Given the description of an element on the screen output the (x, y) to click on. 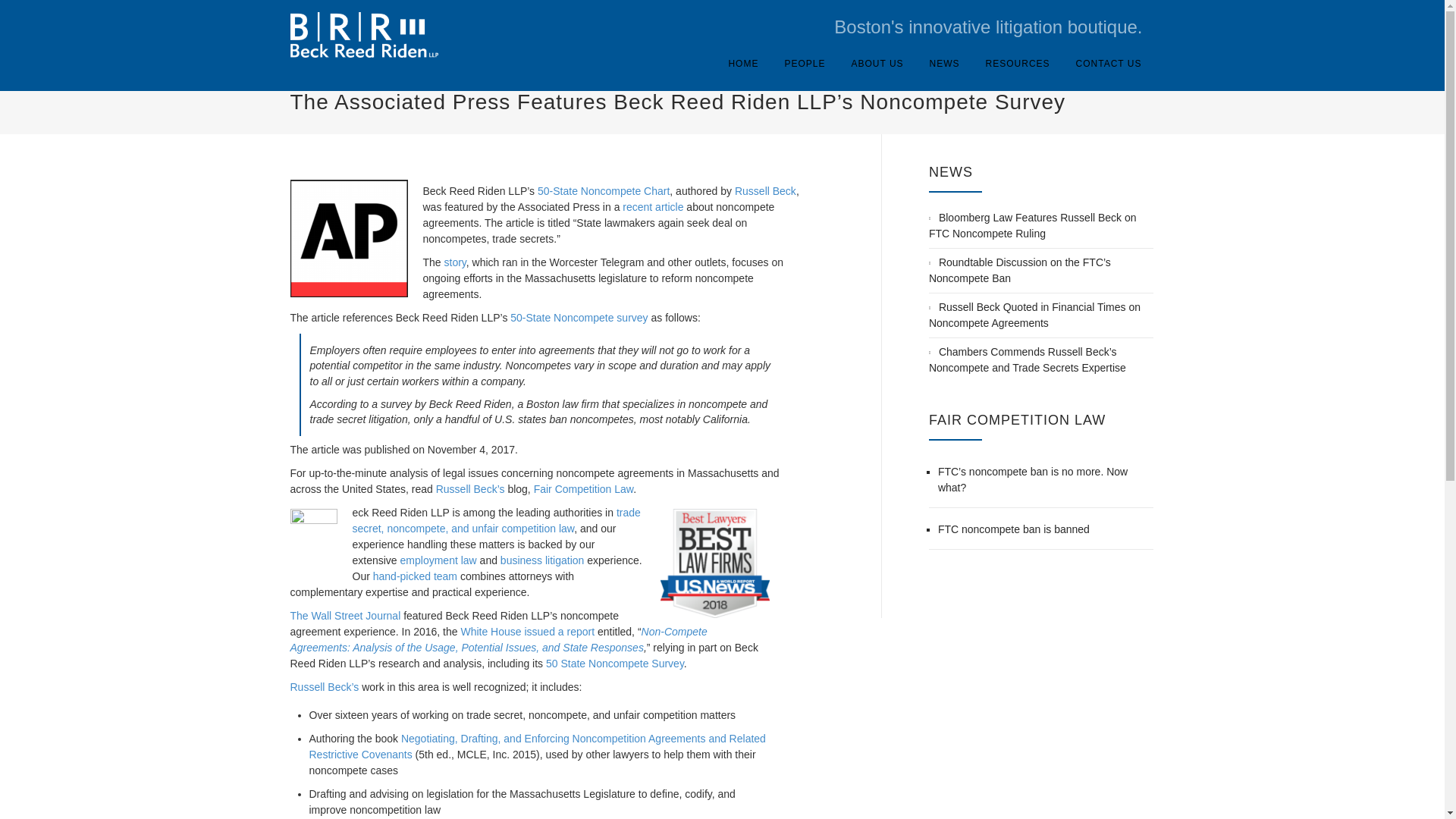
business litigation (542, 560)
HOME (742, 63)
50-State Noncompete survey (579, 317)
White House issued a report (527, 631)
recent article (652, 206)
RESOURCES (1017, 63)
PEOPLE (804, 63)
employment law (438, 560)
noncompete, and unfair competition law (480, 528)
The Wall Street Journal (344, 615)
